Given the description of an element on the screen output the (x, y) to click on. 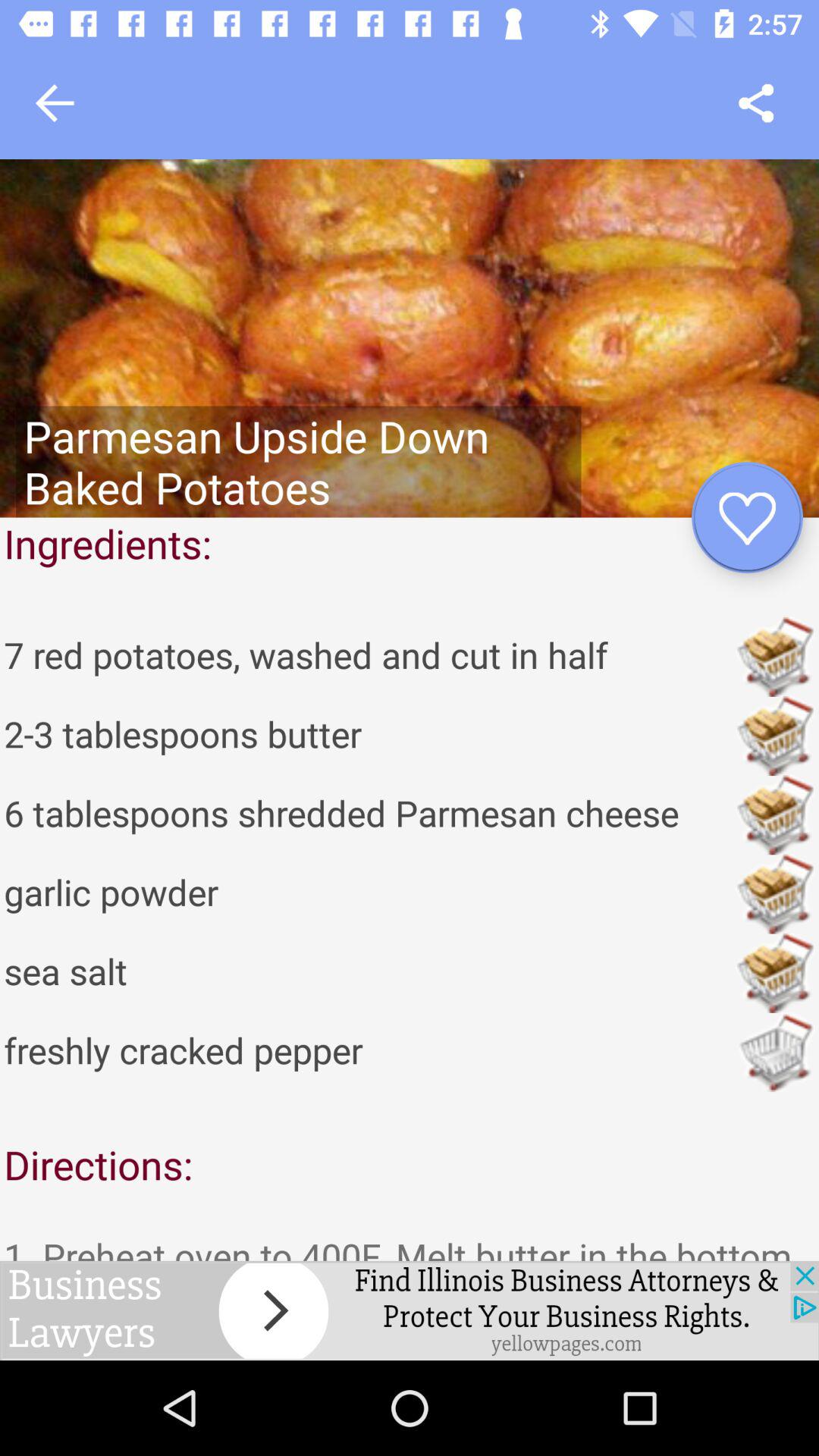
love symbol (747, 517)
